Given the description of an element on the screen output the (x, y) to click on. 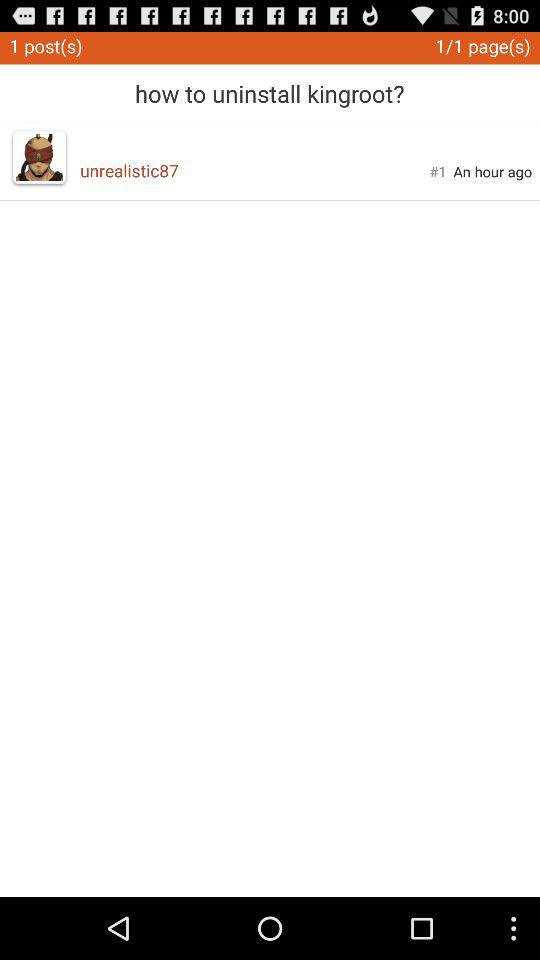
turn on the app next to the 1 1 page (269, 86)
